Given the description of an element on the screen output the (x, y) to click on. 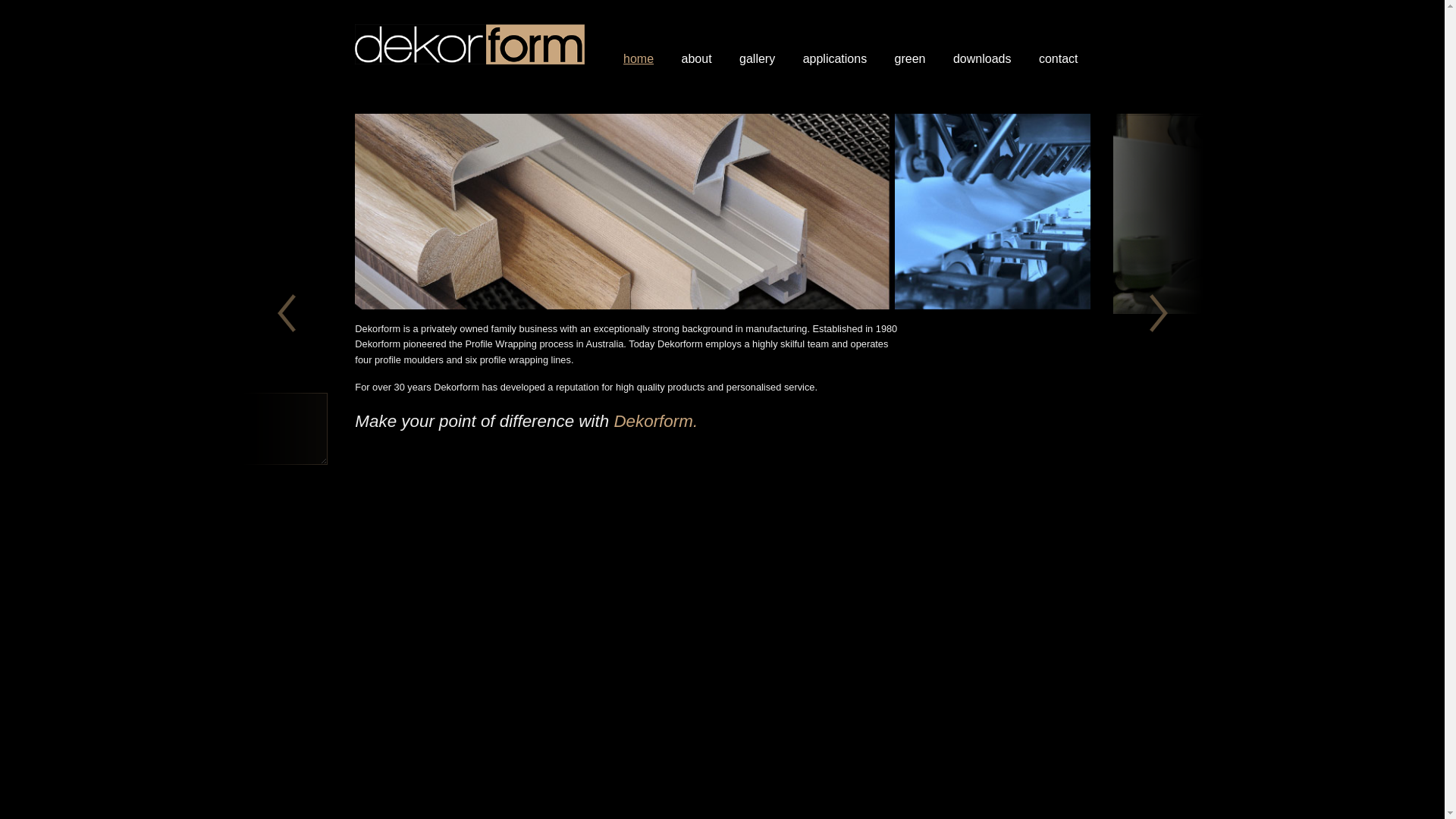
about Element type: text (696, 44)
green Element type: text (910, 44)
downloads Element type: text (982, 44)
contact Element type: text (1058, 44)
gallery Element type: text (757, 44)
applications Element type: text (834, 44)
home Element type: text (638, 44)
